Given the description of an element on the screen output the (x, y) to click on. 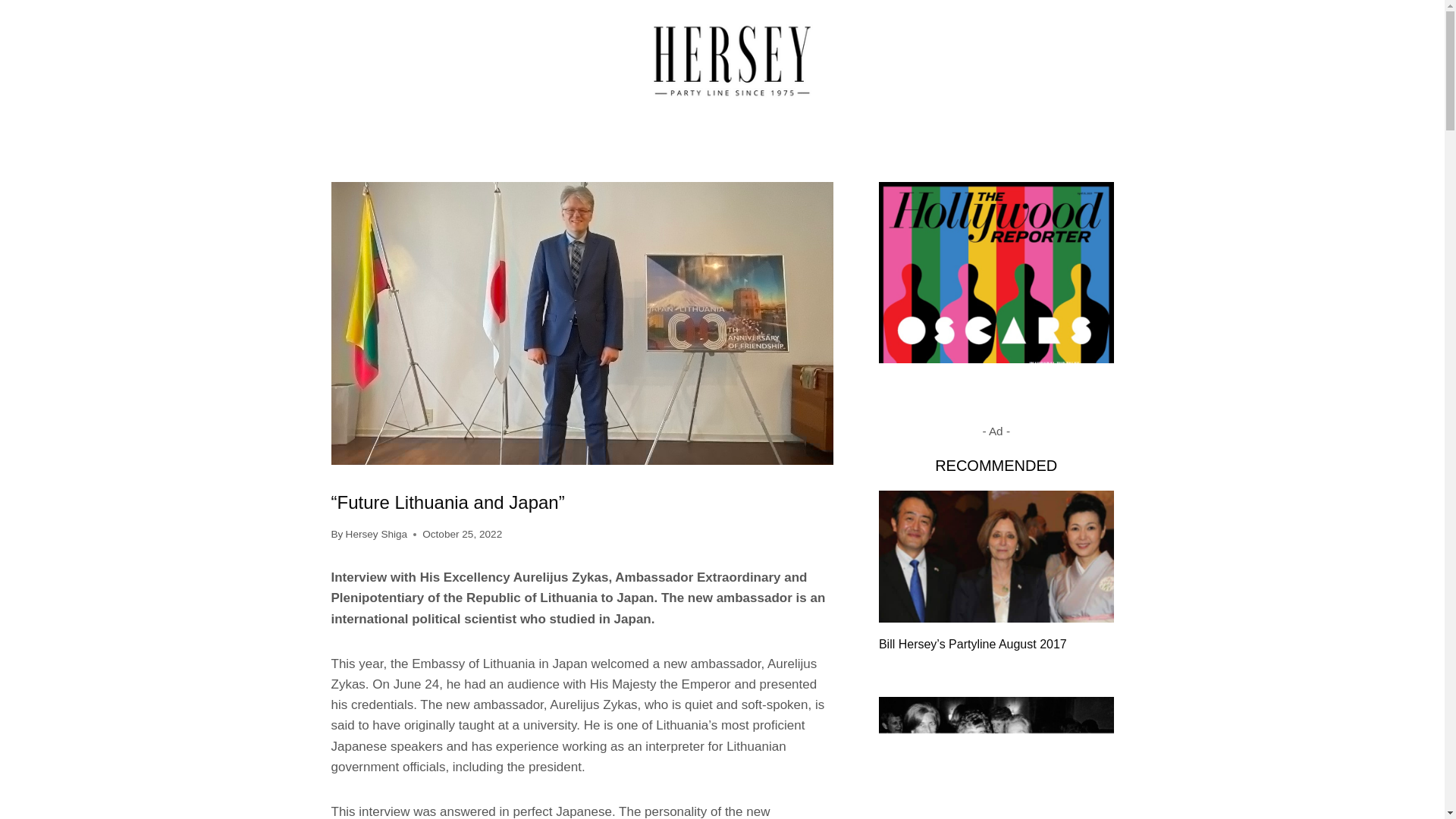
Hersey Shiga (376, 533)
